Given the description of an element on the screen output the (x, y) to click on. 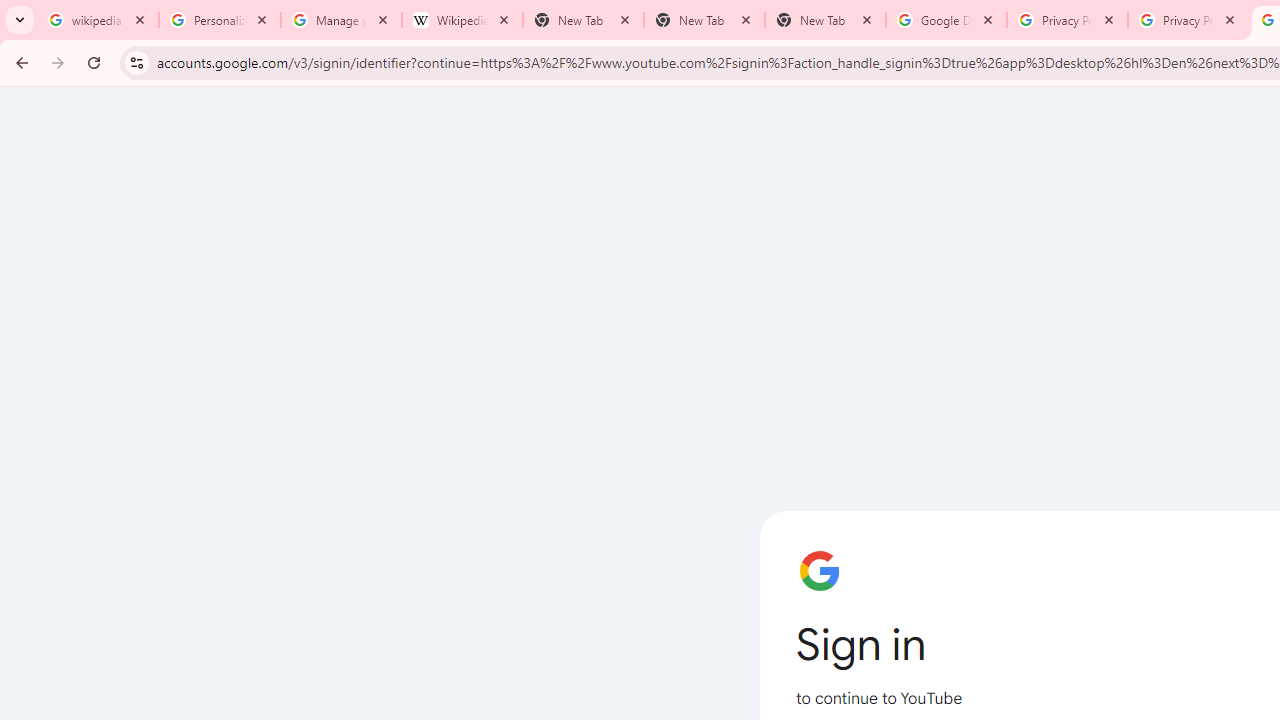
New Tab (825, 20)
Manage your Location History - Google Search Help (340, 20)
New Tab (704, 20)
Personalization & Google Search results - Google Search Help (219, 20)
Wikipedia:Edit requests - Wikipedia (462, 20)
Google Drive: Sign-in (946, 20)
